Given the description of an element on the screen output the (x, y) to click on. 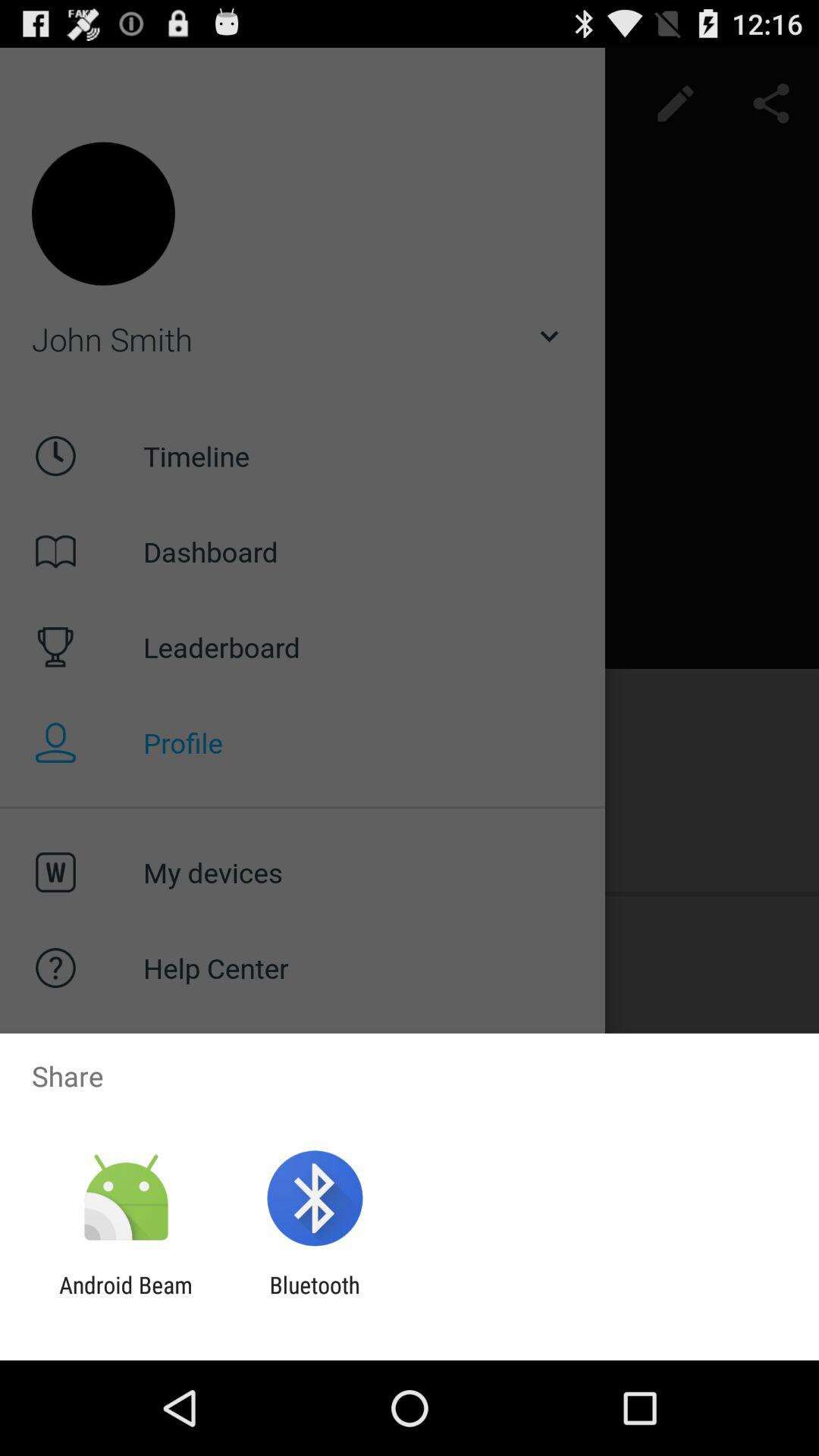
turn off android beam app (125, 1298)
